Given the description of an element on the screen output the (x, y) to click on. 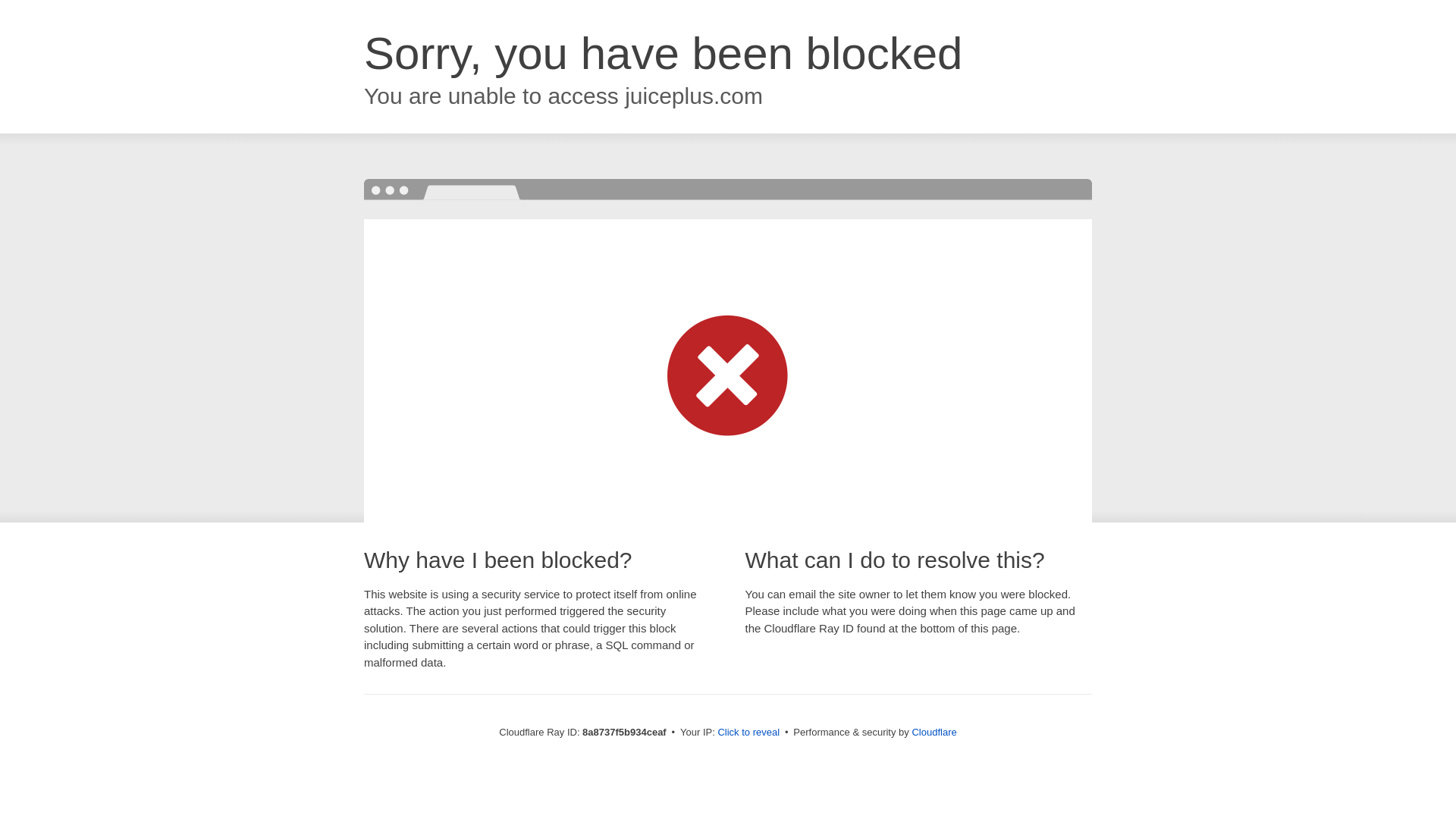
Click to reveal (747, 732)
Cloudflare (933, 731)
